Given the description of an element on the screen output the (x, y) to click on. 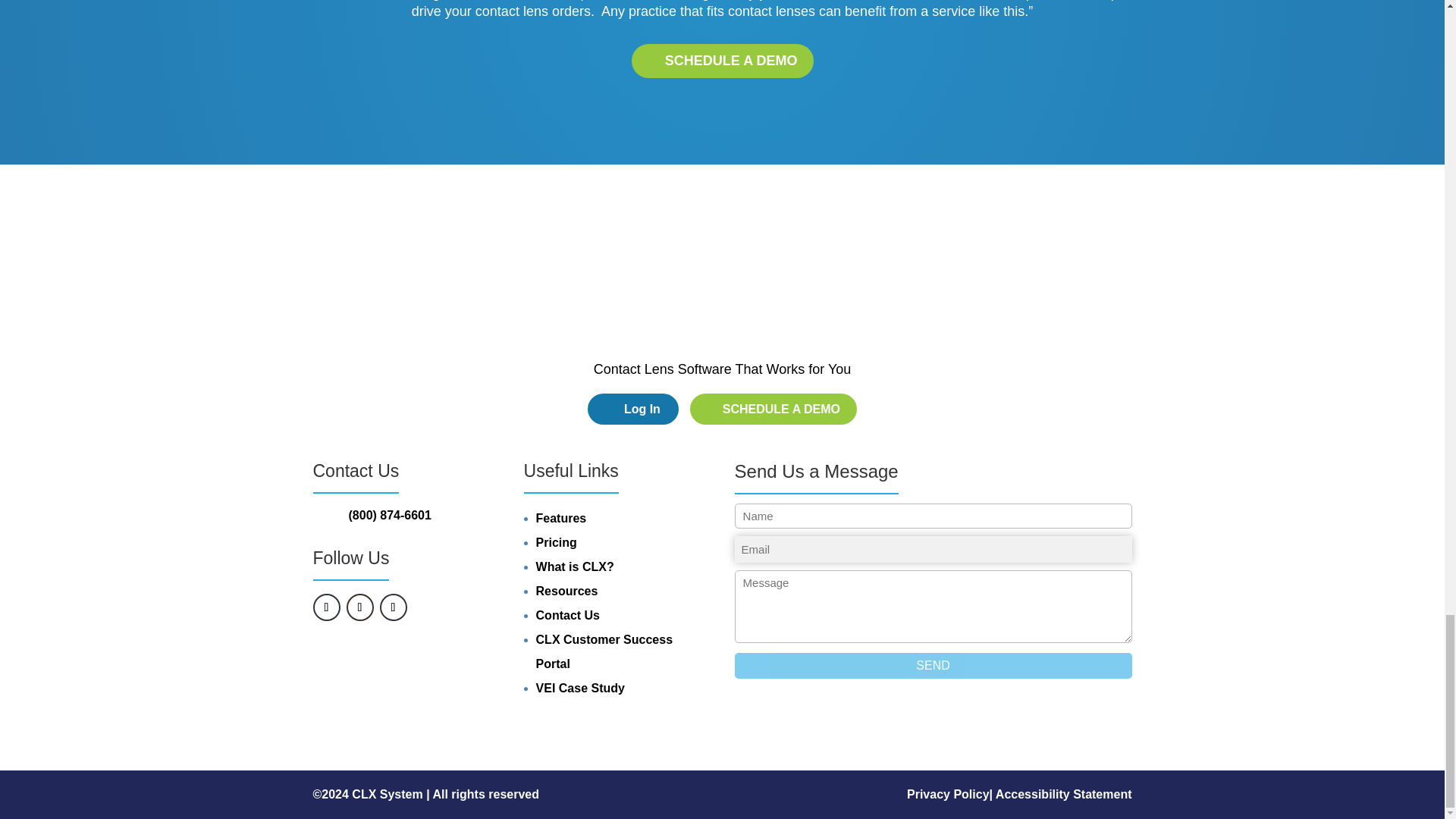
SCHEDULE A DEMO (721, 60)
Follow on LinkedIn (326, 606)
Follow on Facebook (392, 606)
Follow on Youtube (359, 606)
Log In (633, 409)
SCHEDULE A DEMO (773, 409)
SEND (933, 665)
